Given the description of an element on the screen output the (x, y) to click on. 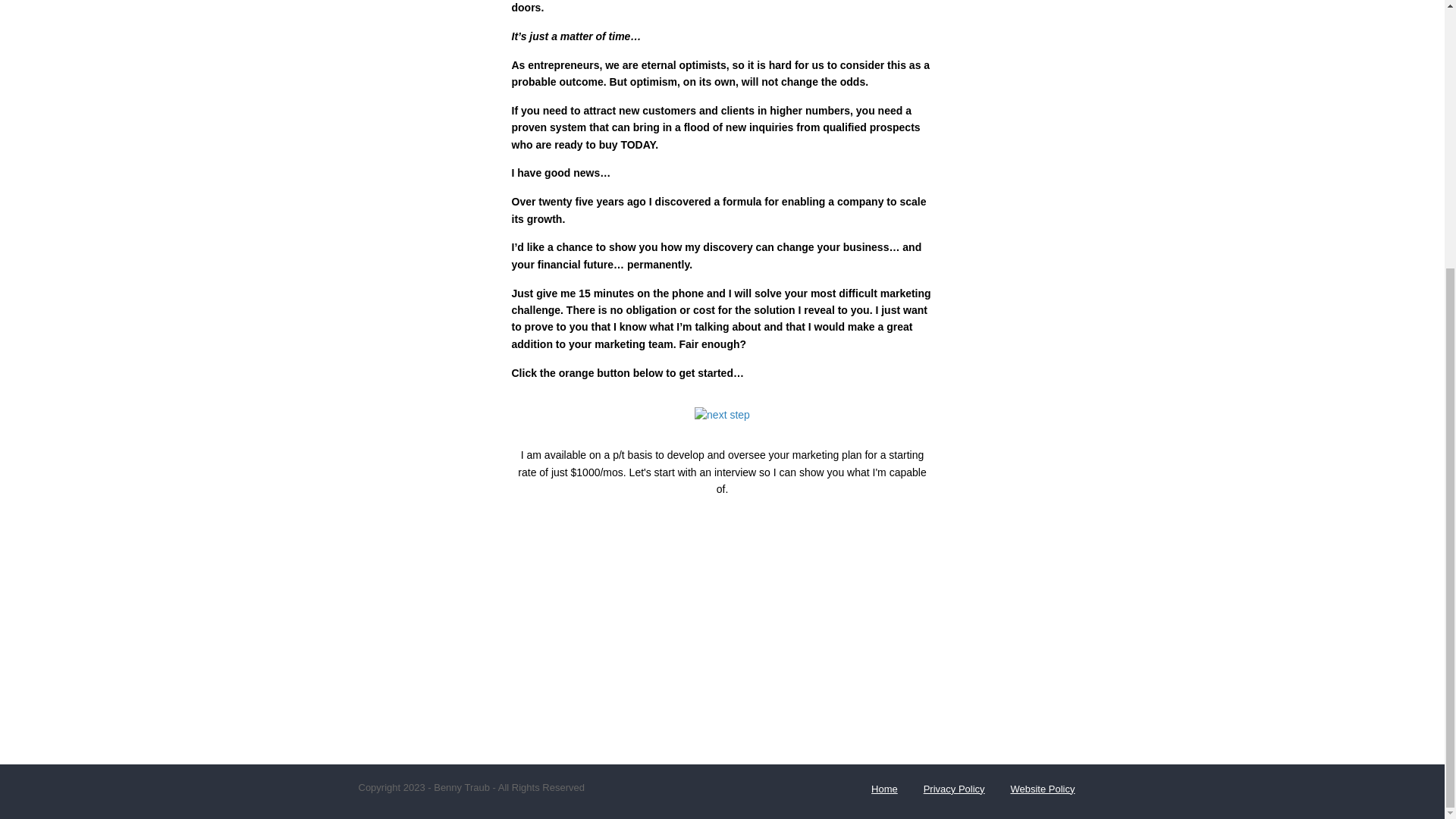
Privacy Policy (954, 788)
Website Policy (1042, 788)
Home (884, 788)
